Given the description of an element on the screen output the (x, y) to click on. 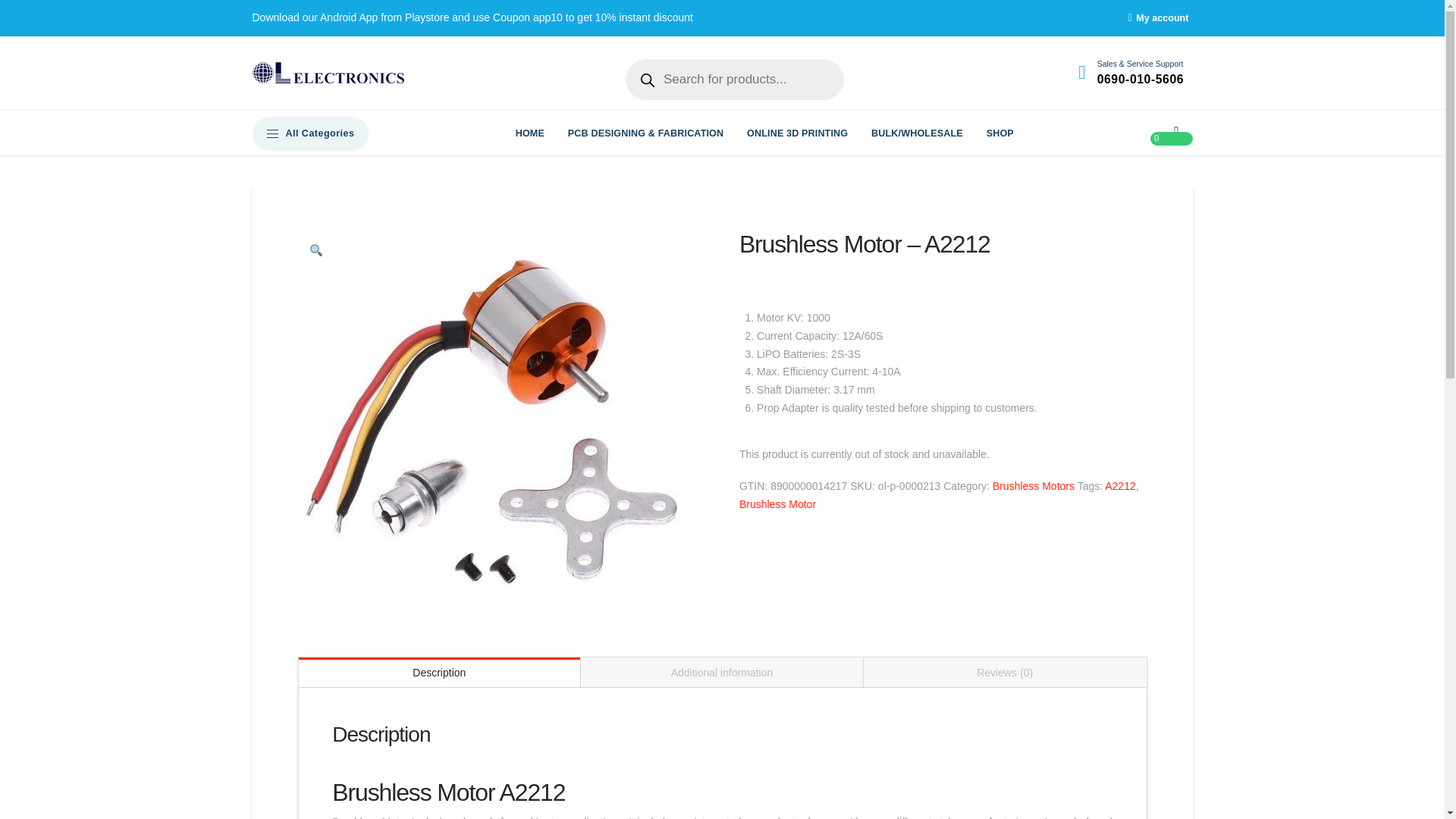
Additional information (721, 672)
Brushless Motors (1033, 485)
A2212 (1120, 485)
HOME (529, 133)
ONLINE 3D PRINTING (797, 133)
My account (1160, 18)
SHOP (999, 133)
Description (439, 672)
Brushless Motor (777, 503)
